Given the description of an element on the screen output the (x, y) to click on. 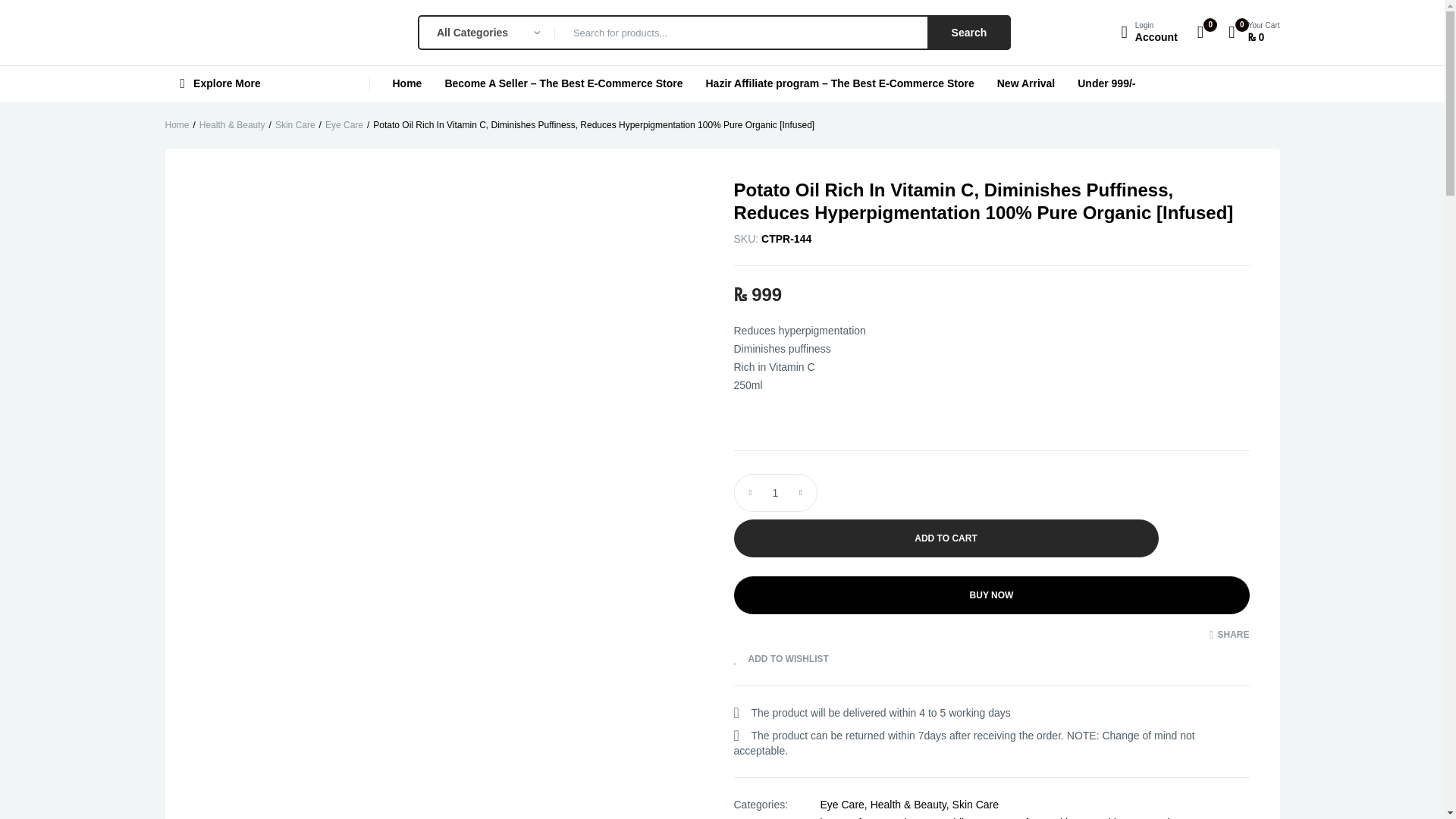
Explore More (267, 83)
Search (1148, 32)
1 (968, 32)
